Given the description of an element on the screen output the (x, y) to click on. 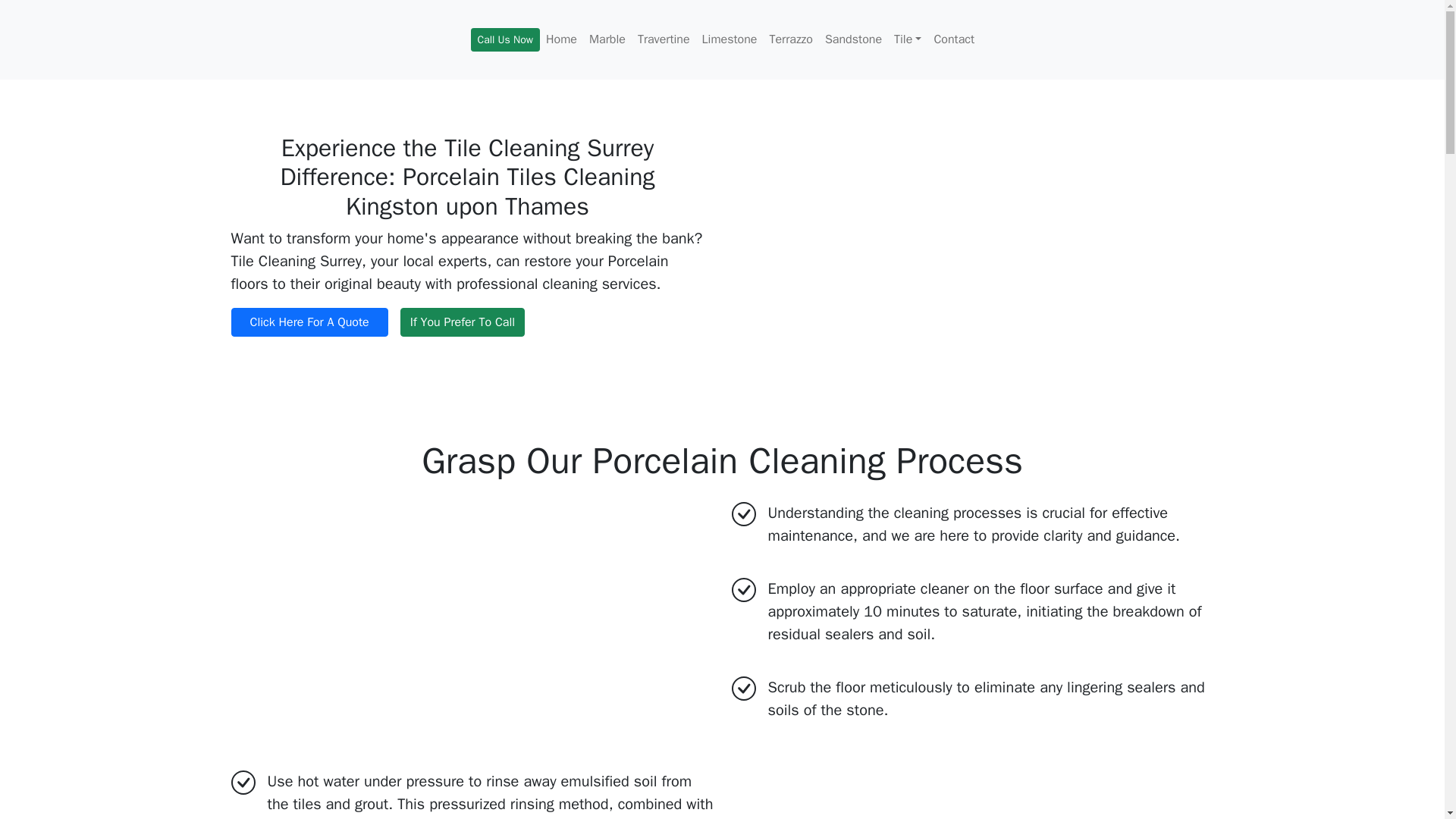
Contact (953, 39)
Marble (607, 39)
Click Here For A Quote (308, 321)
Tile (907, 39)
Call Us Now (505, 39)
If You Prefer To Call (462, 321)
Home (561, 39)
Limestone (728, 39)
Travertine (663, 39)
Sandstone (853, 39)
